Given the description of an element on the screen output the (x, y) to click on. 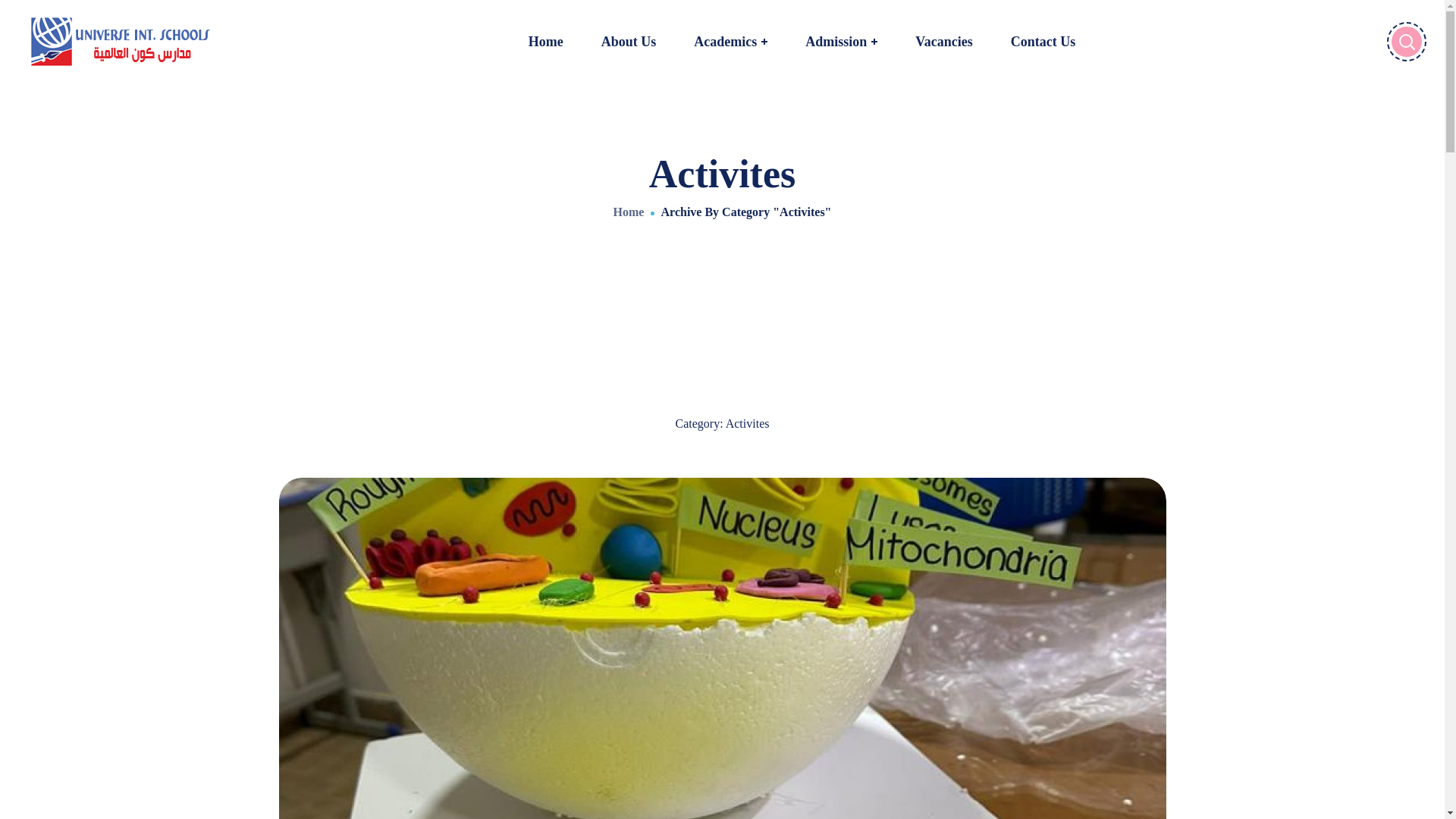
Vacancies (943, 41)
Home (545, 41)
Admission (841, 41)
Search (1375, 121)
Search (1375, 37)
Contact Us (1042, 41)
Academics (730, 41)
About Us (628, 41)
